Given the description of an element on the screen output the (x, y) to click on. 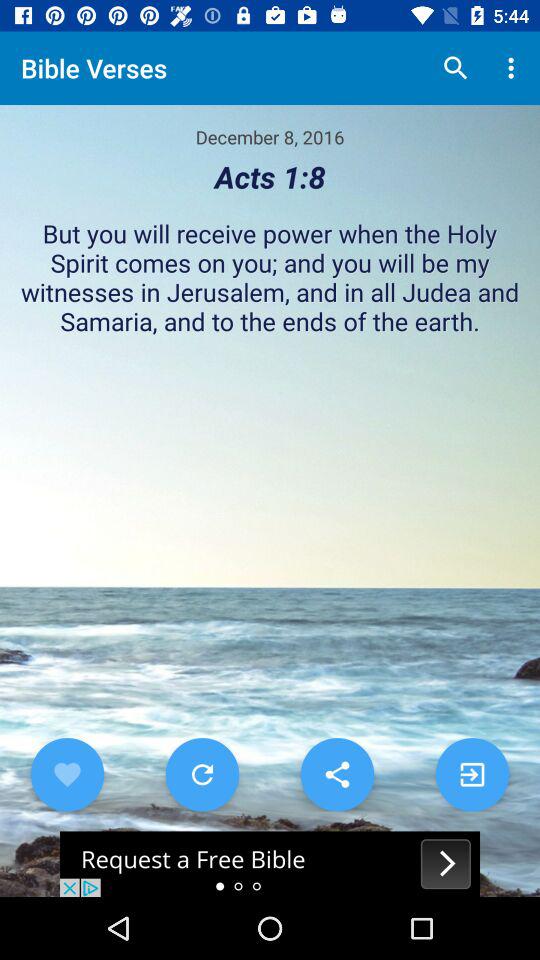
advance forward (472, 774)
